Given the description of an element on the screen output the (x, y) to click on. 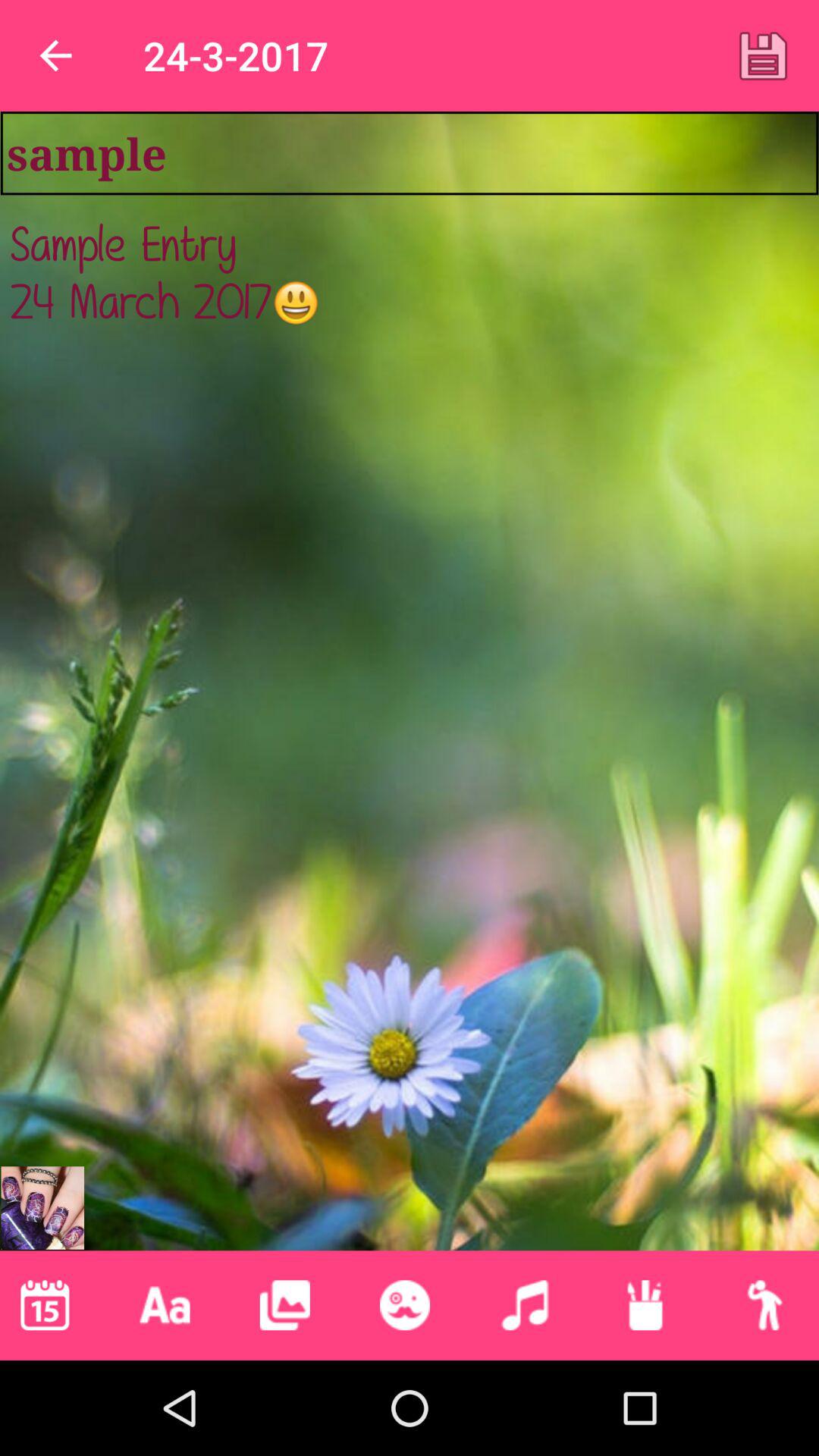
turn off item to the right of 24-3-2017 (763, 55)
